Given the description of an element on the screen output the (x, y) to click on. 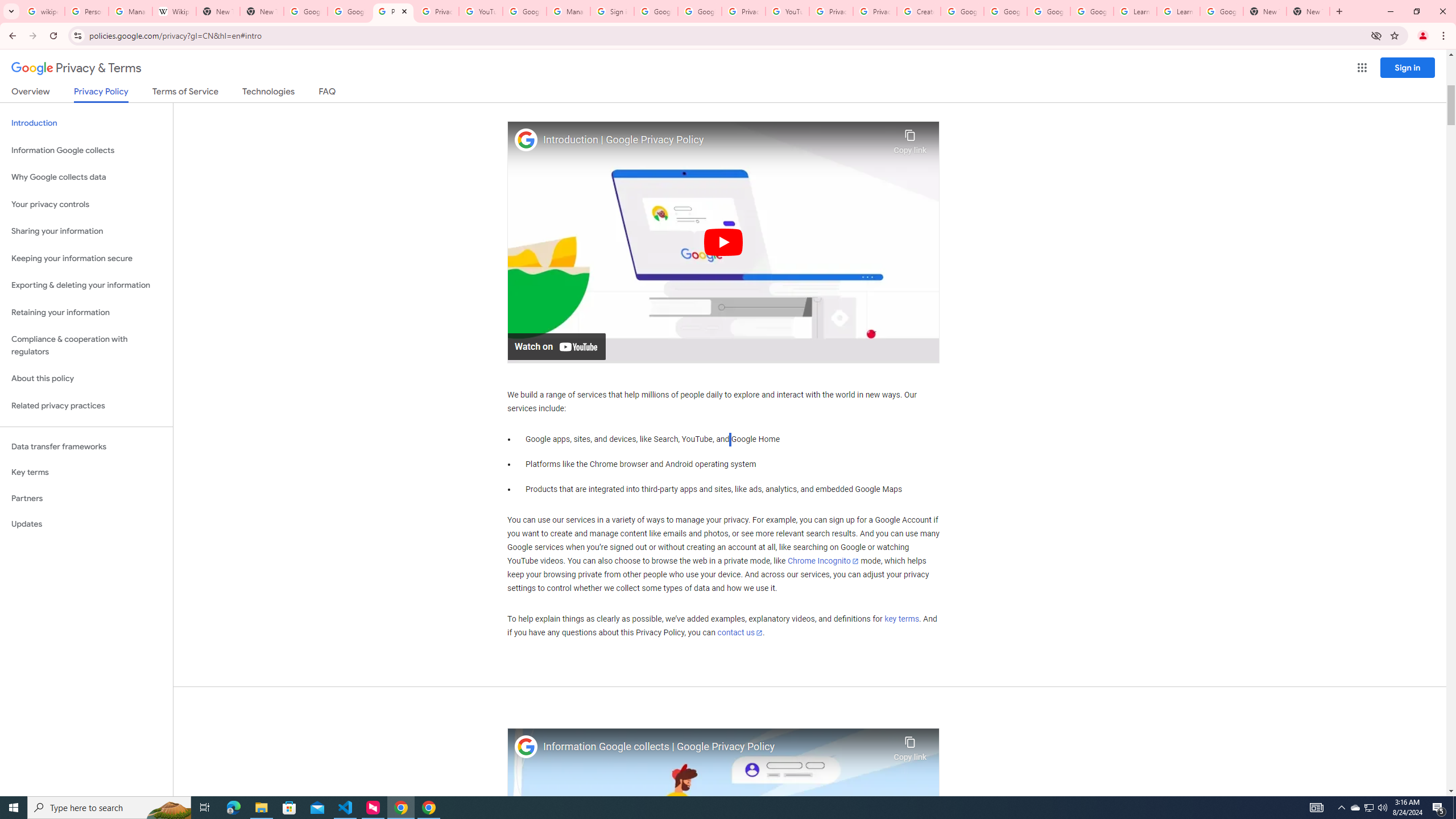
Photo image of Google (526, 746)
Create your Google Account (918, 11)
New Tab (1264, 11)
Information Google collects (86, 150)
Google Account Help (1091, 11)
Chrome Incognito (823, 561)
